Given the description of an element on the screen output the (x, y) to click on. 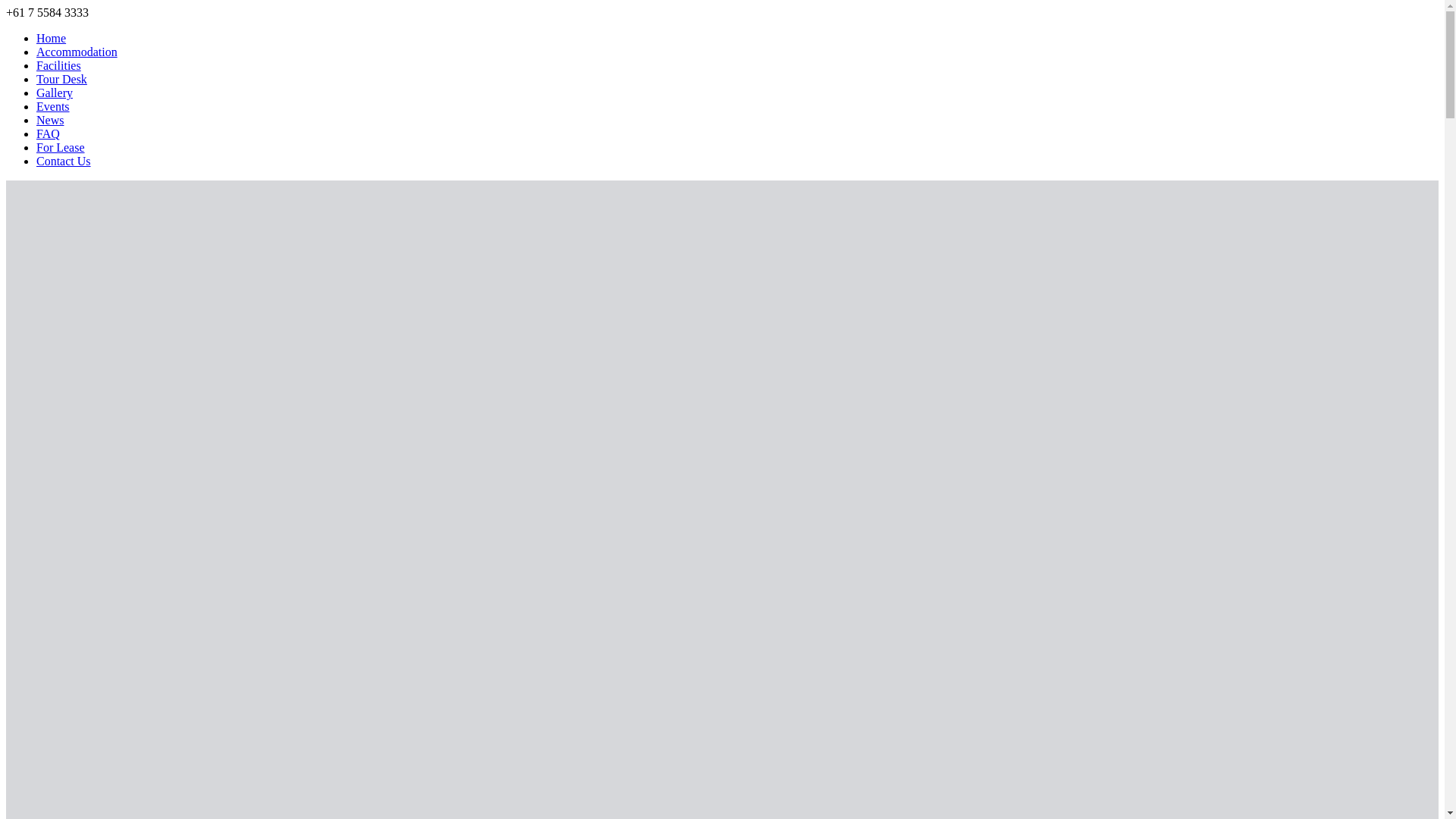
News Element type: text (49, 119)
Contact Us Element type: text (63, 160)
Gallery Element type: text (54, 92)
Accommodation Element type: text (76, 51)
Home Element type: text (50, 37)
Events Element type: text (52, 106)
For Lease Element type: text (60, 147)
Tour Desk Element type: text (61, 78)
Facilities Element type: text (58, 65)
FAQ Element type: text (47, 133)
